Given the description of an element on the screen output the (x, y) to click on. 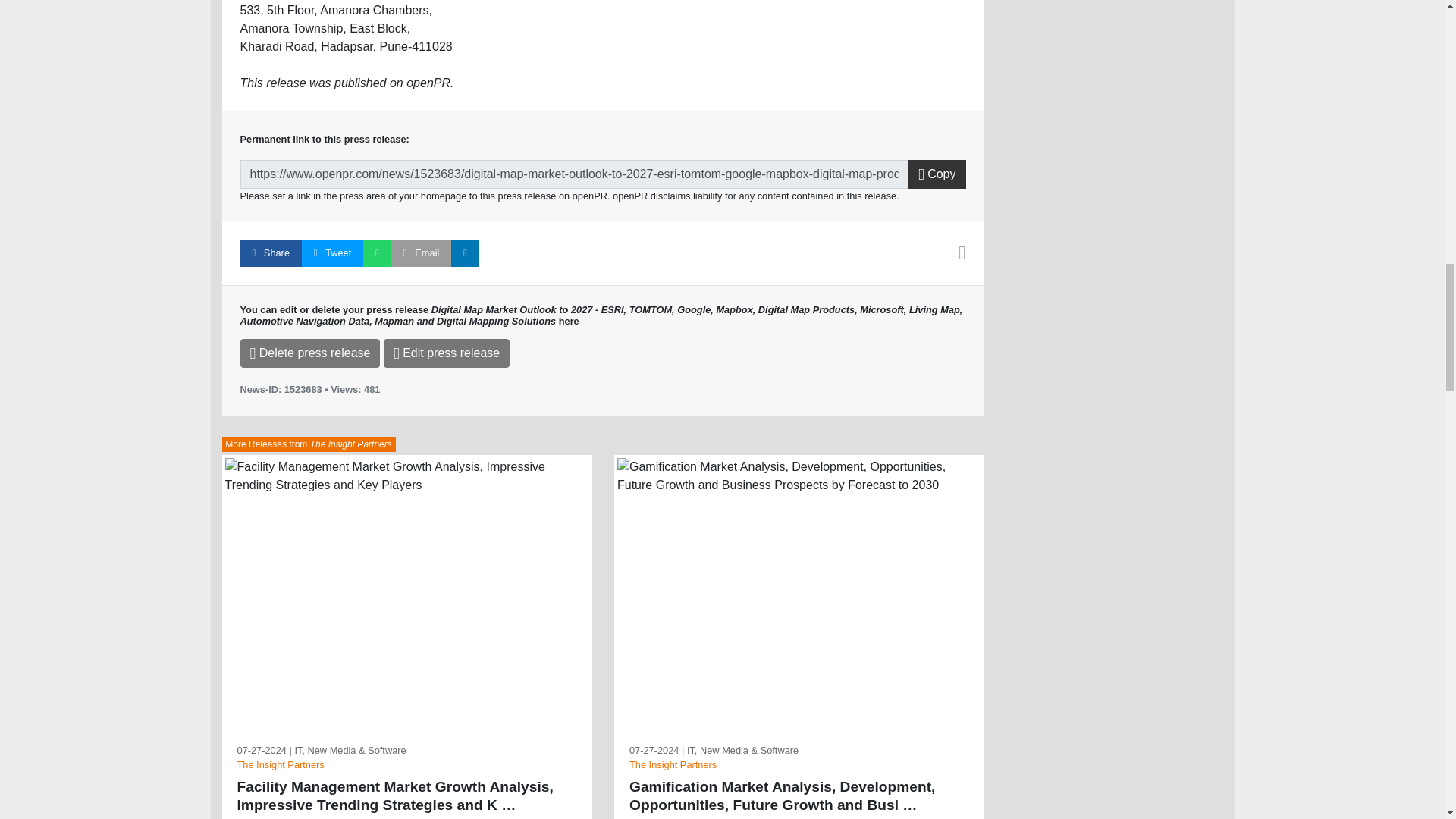
LinkedIn (465, 252)
Permalink (574, 174)
Facebook (270, 252)
Print (961, 255)
WhatsApp (376, 252)
Email (421, 252)
